Given the description of an element on the screen output the (x, y) to click on. 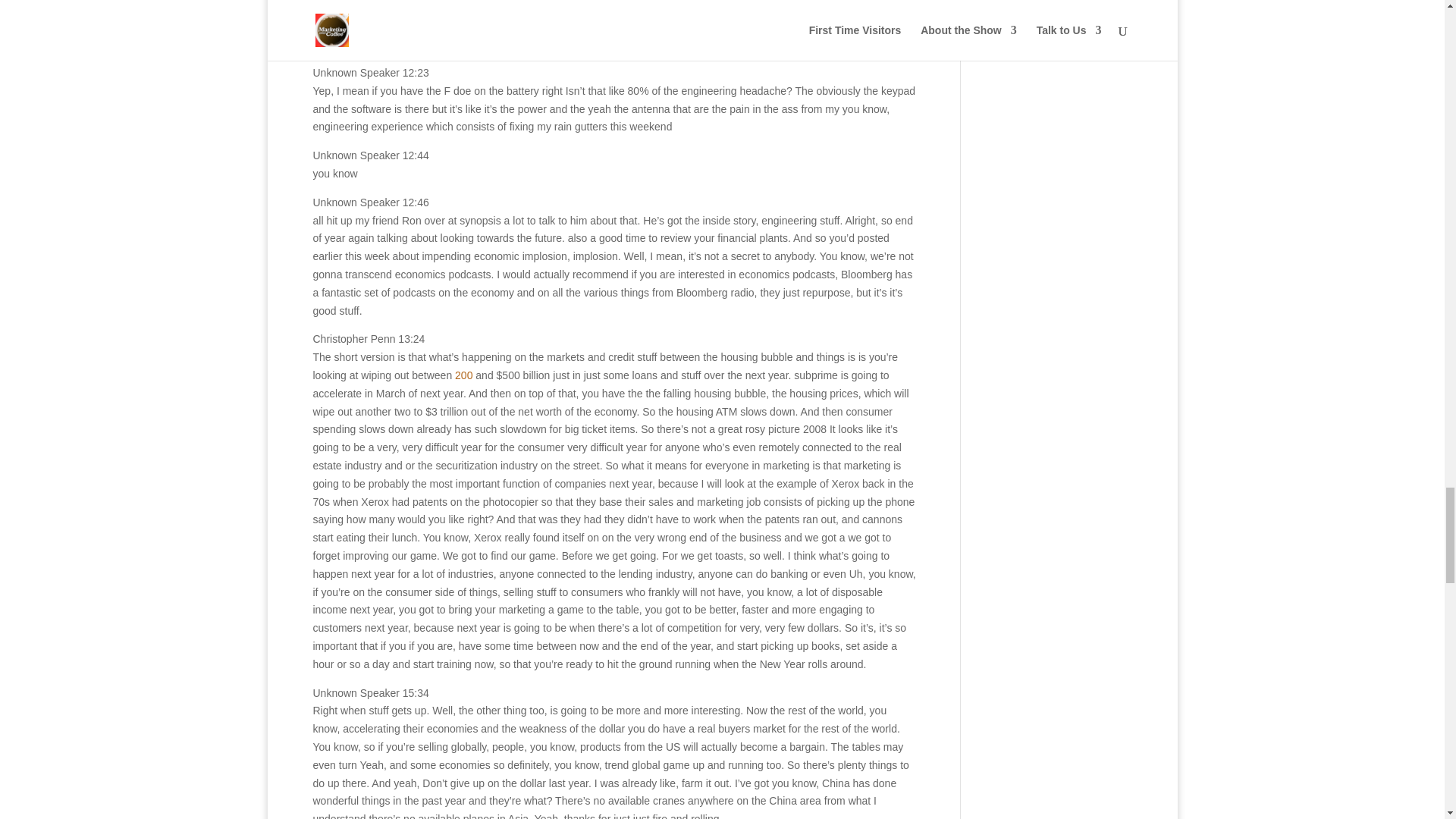
200 (462, 375)
